Given the description of an element on the screen output the (x, y) to click on. 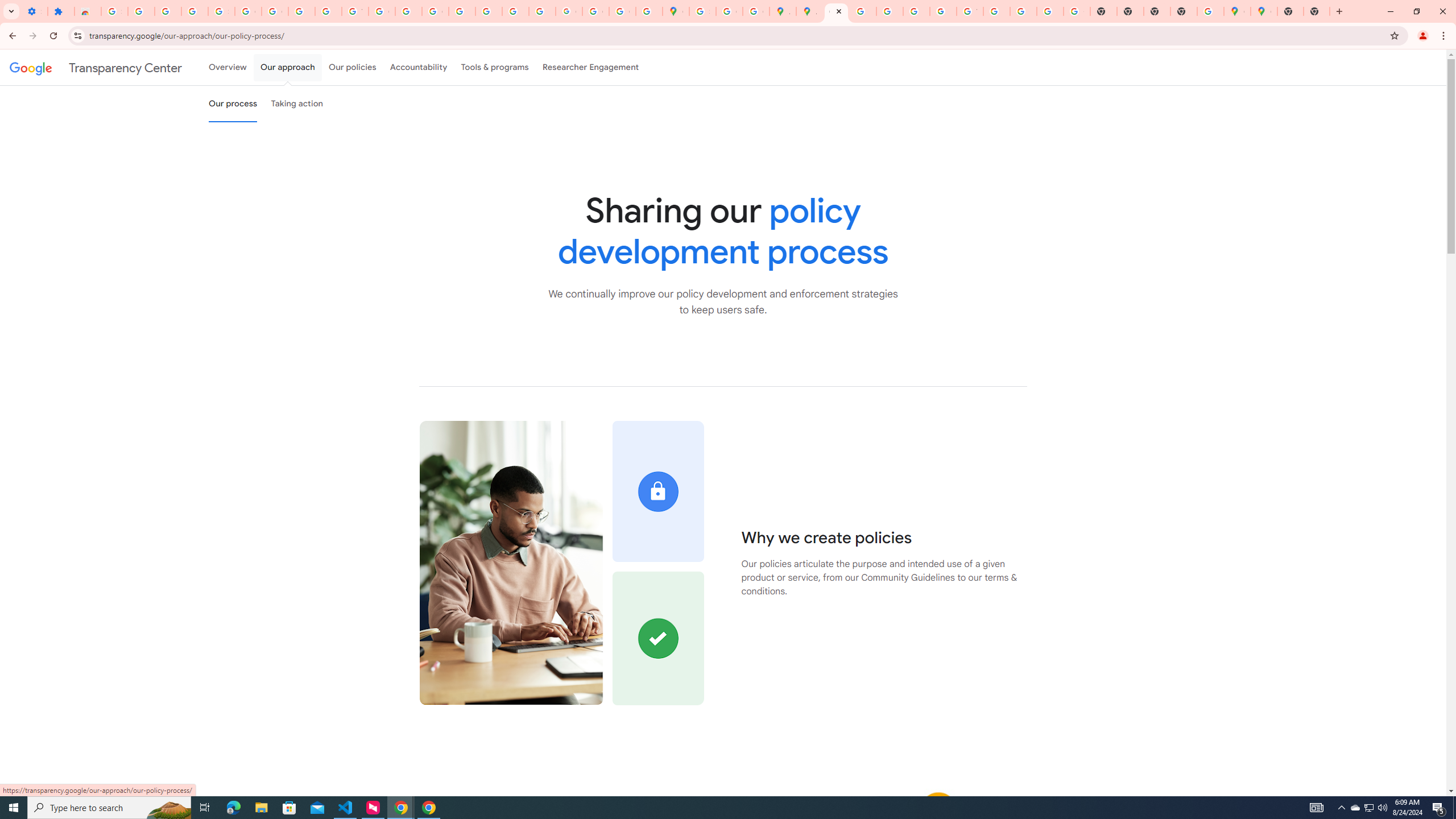
Google Account Help (248, 11)
Google Maps (1236, 11)
Use Google Maps in Space - Google Maps Help (1210, 11)
Delete photos & videos - Computer - Google Photos Help (141, 11)
New Tab (1290, 11)
Sign in - Google Accounts (221, 11)
Our policies (351, 67)
Reviews: Helix Fruit Jump Arcade Game (87, 11)
